Given the description of an element on the screen output the (x, y) to click on. 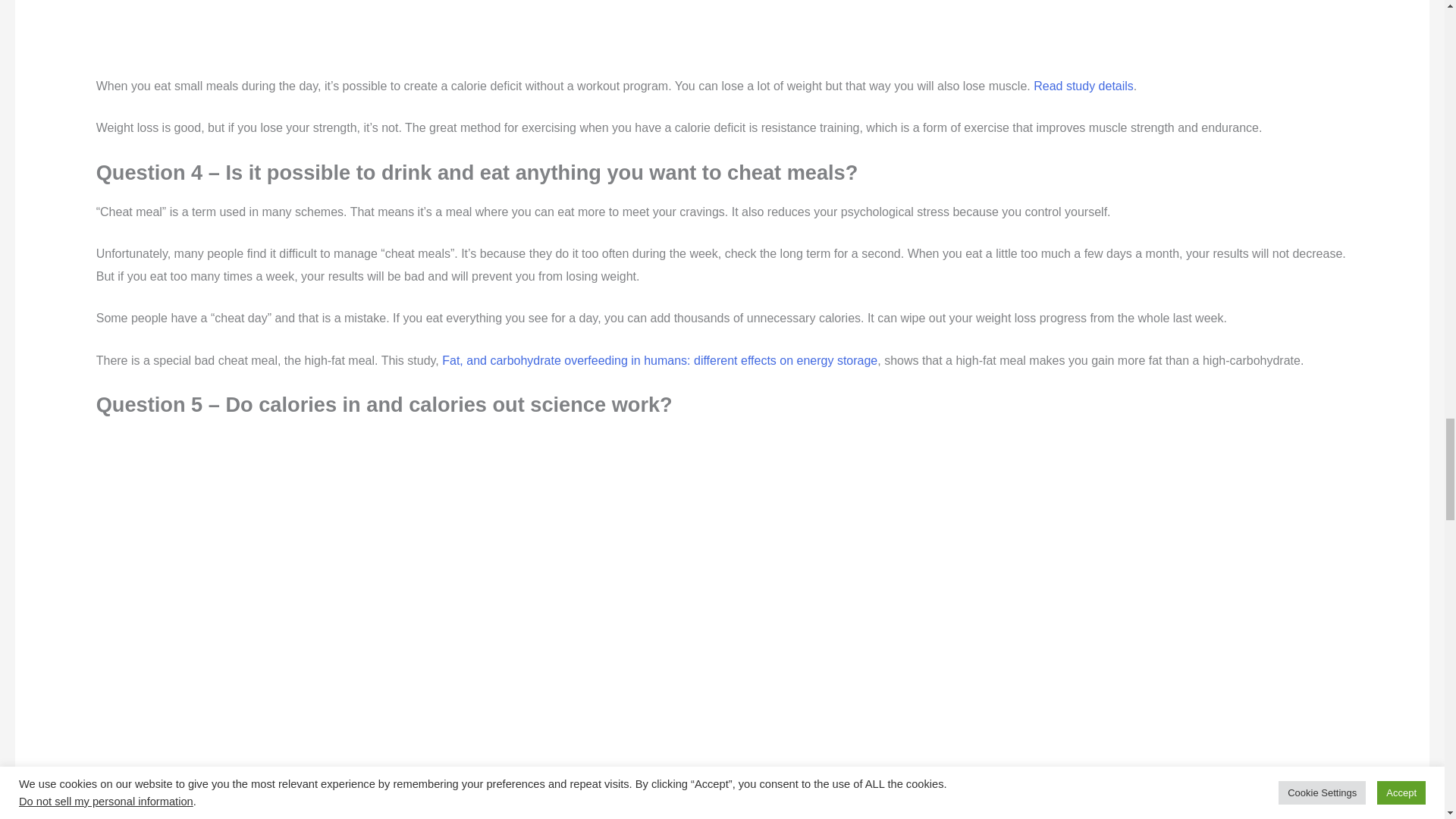
Read study details (1083, 85)
